Given the description of an element on the screen output the (x, y) to click on. 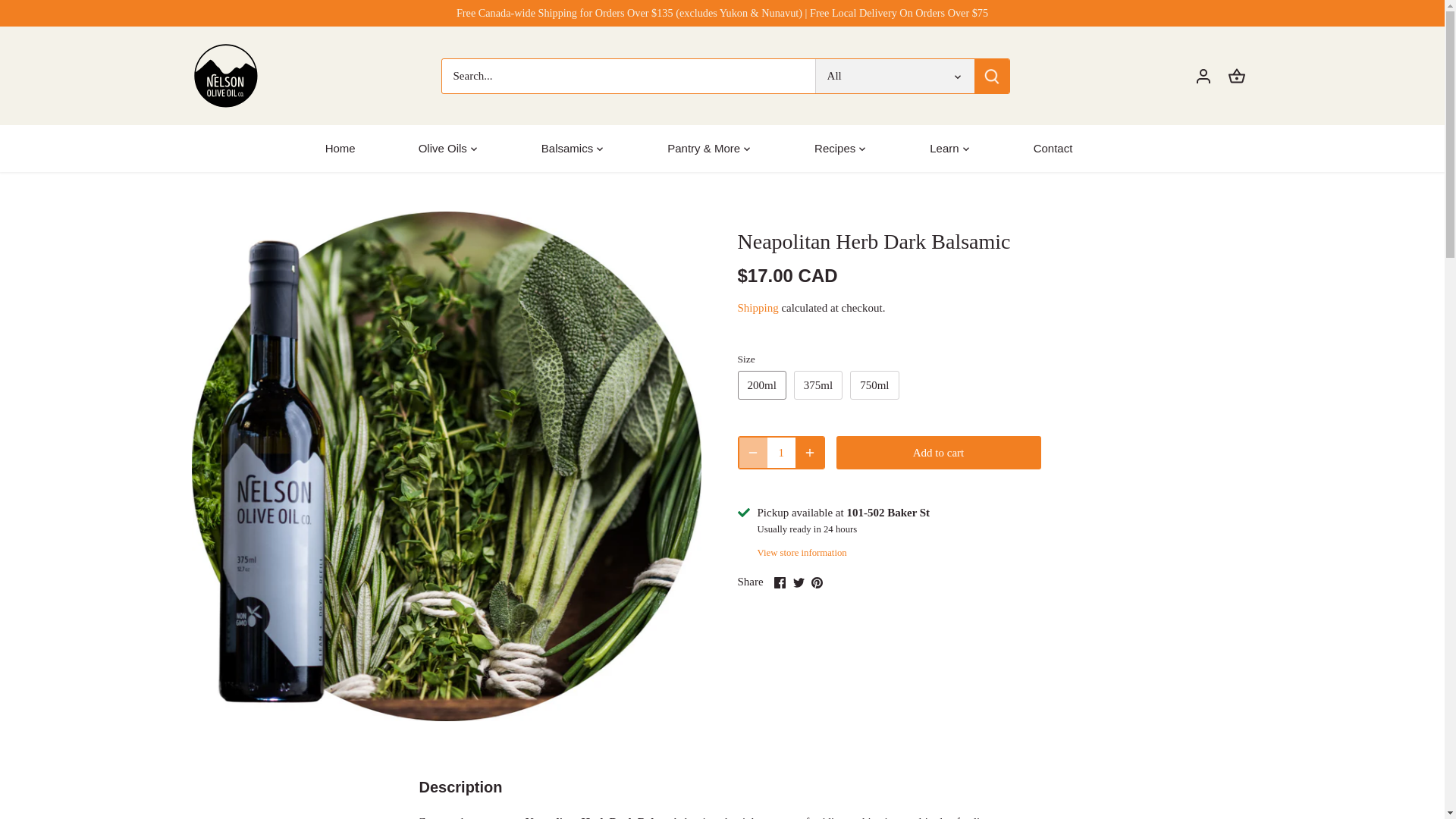
Olive Oils (443, 148)
Twitter (799, 582)
Facebook (780, 582)
Home (345, 148)
Pinterest (816, 582)
1 (781, 452)
Balsamics (566, 148)
